Given the description of an element on the screen output the (x, y) to click on. 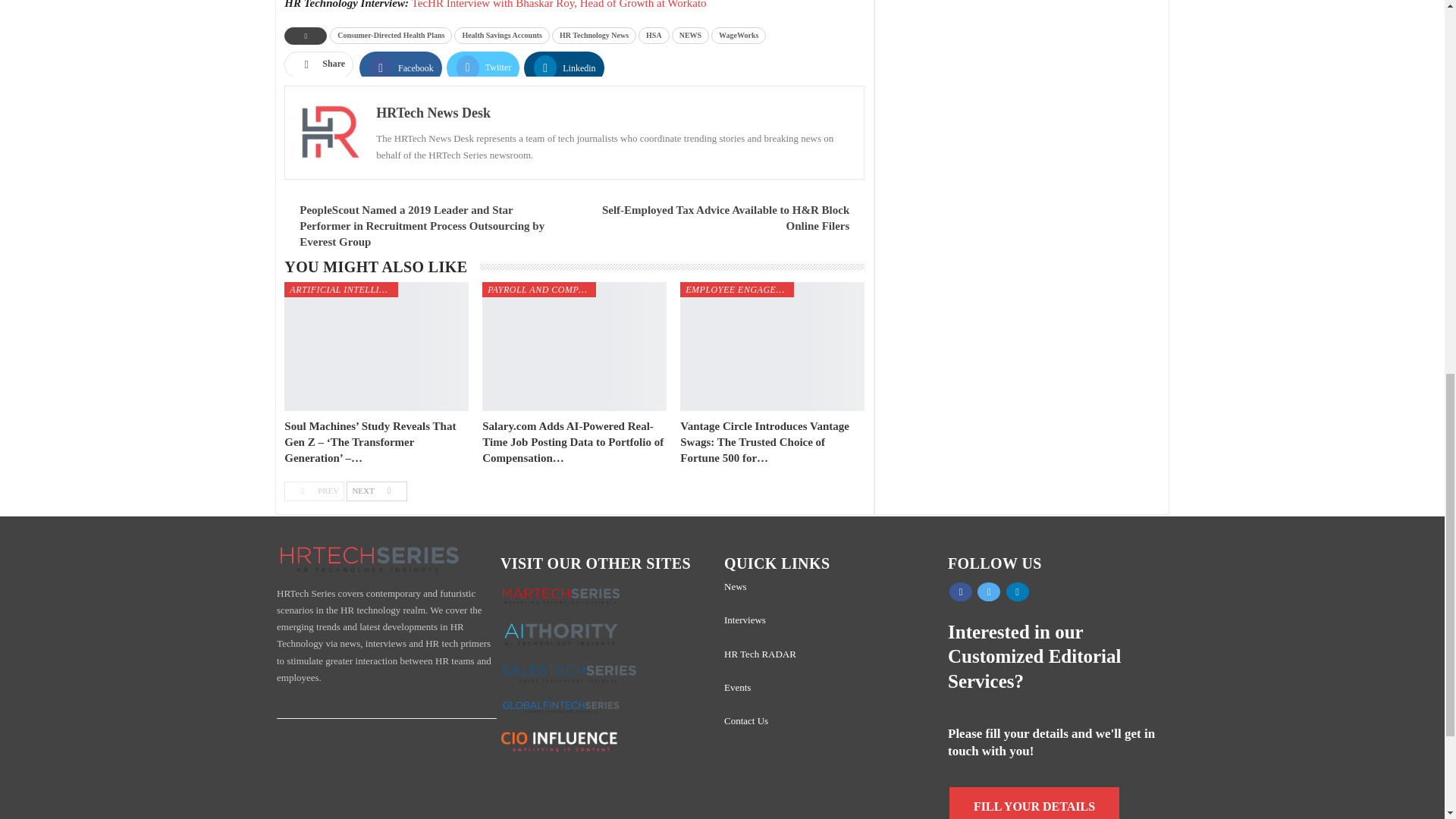
Previous (313, 491)
Next (376, 491)
